Given the description of an element on the screen output the (x, y) to click on. 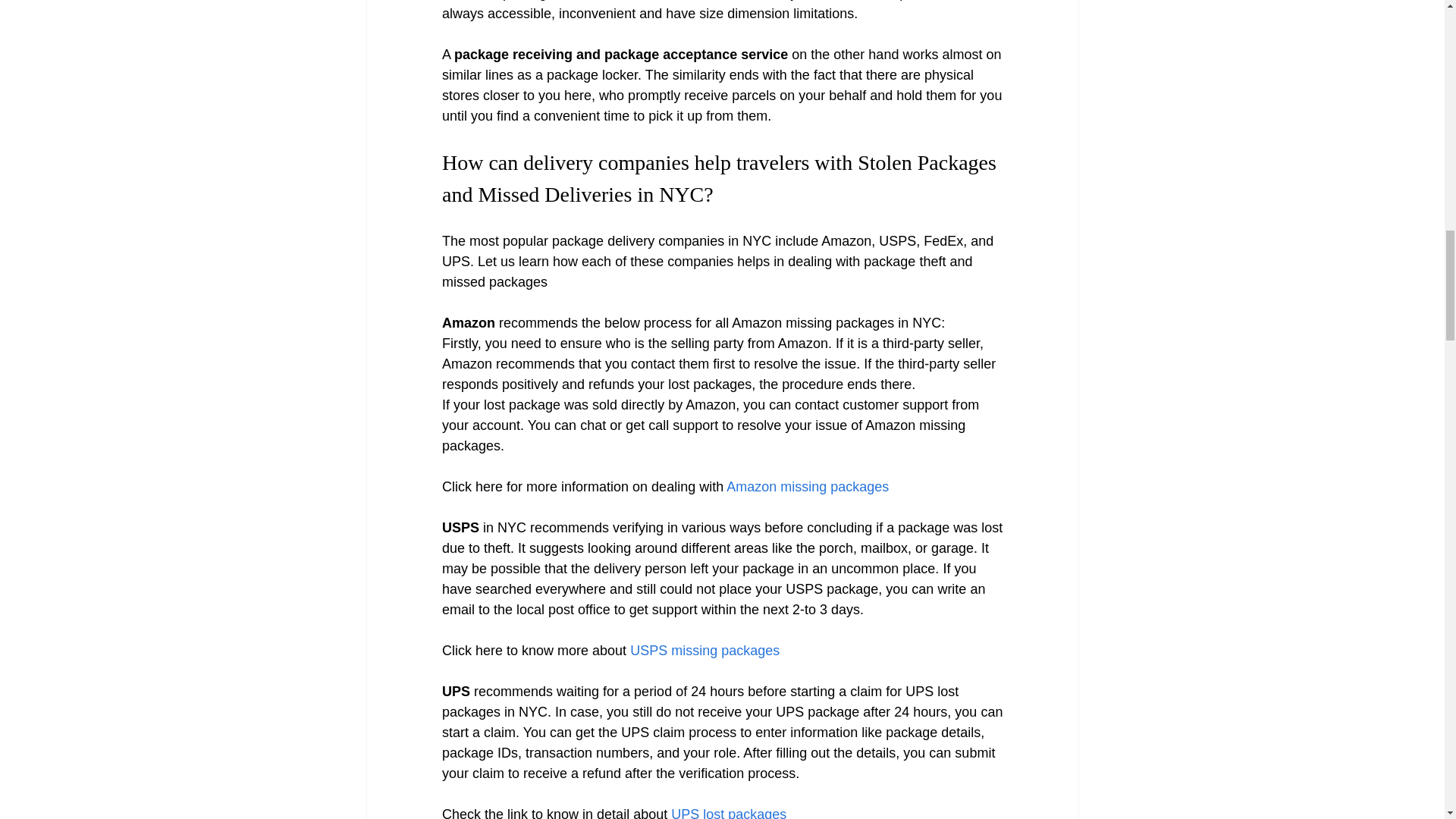
 Amazon missing packages (805, 486)
 USPS missing packages (702, 650)
 UPS lost packages (726, 812)
